Given the description of an element on the screen output the (x, y) to click on. 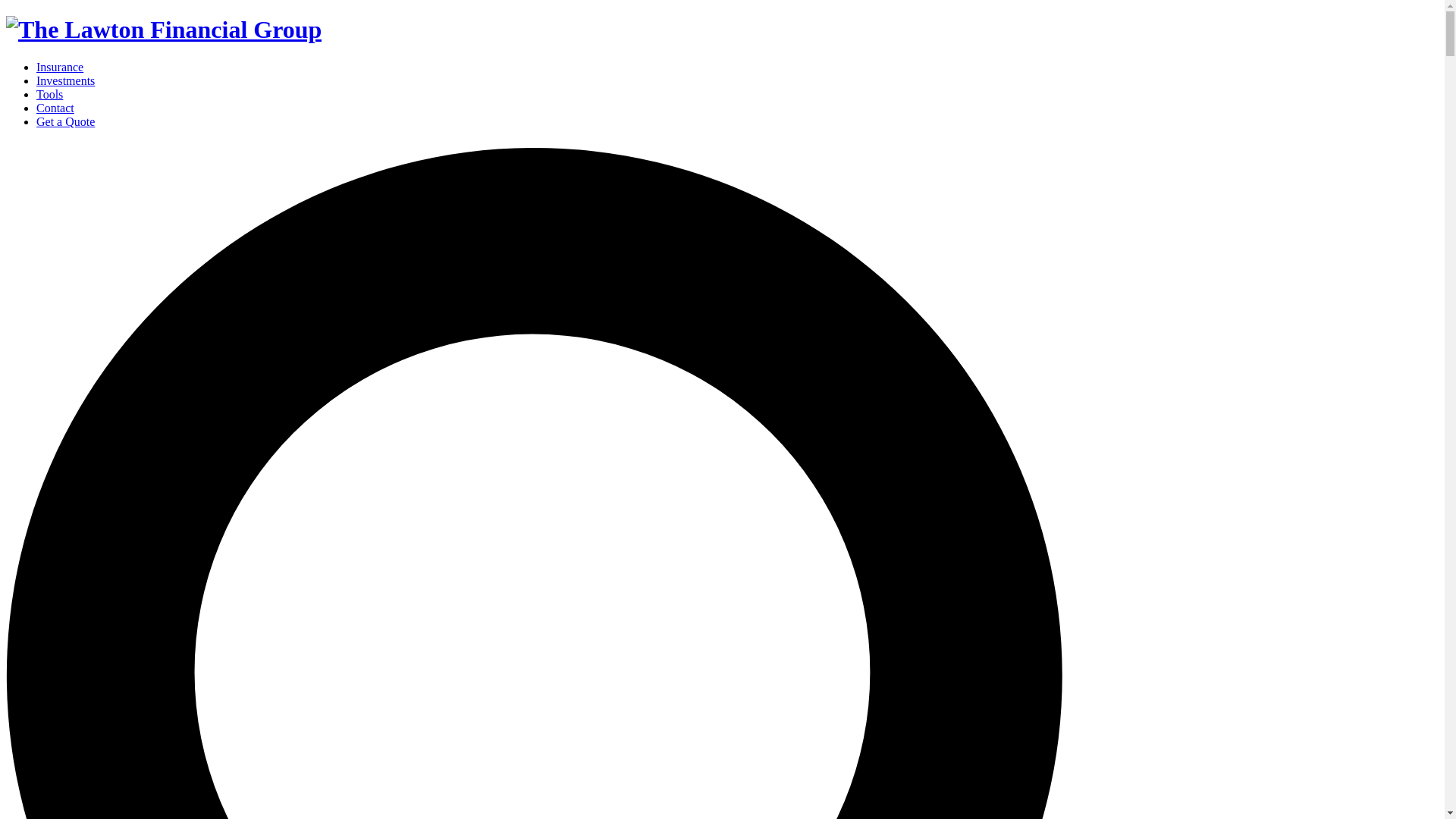
Investments (65, 80)
Insurance (59, 66)
Get a Quote (65, 121)
Tools (49, 93)
Contact (55, 107)
